Given the description of an element on the screen output the (x, y) to click on. 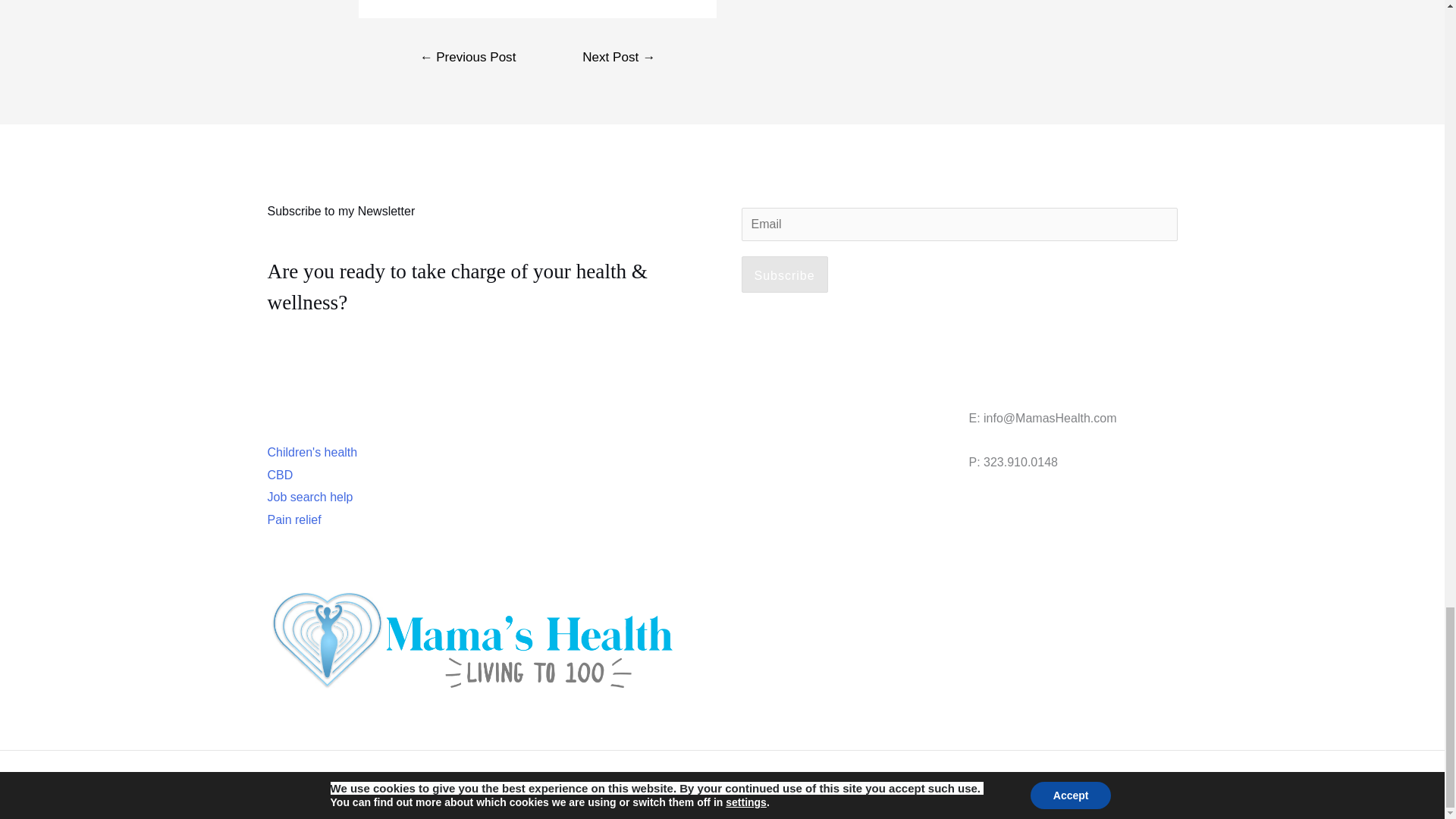
Subscribe (784, 274)
Children's health (311, 451)
CBD (279, 474)
Job search help (309, 496)
Pain relief (293, 519)
